Given the description of an element on the screen output the (x, y) to click on. 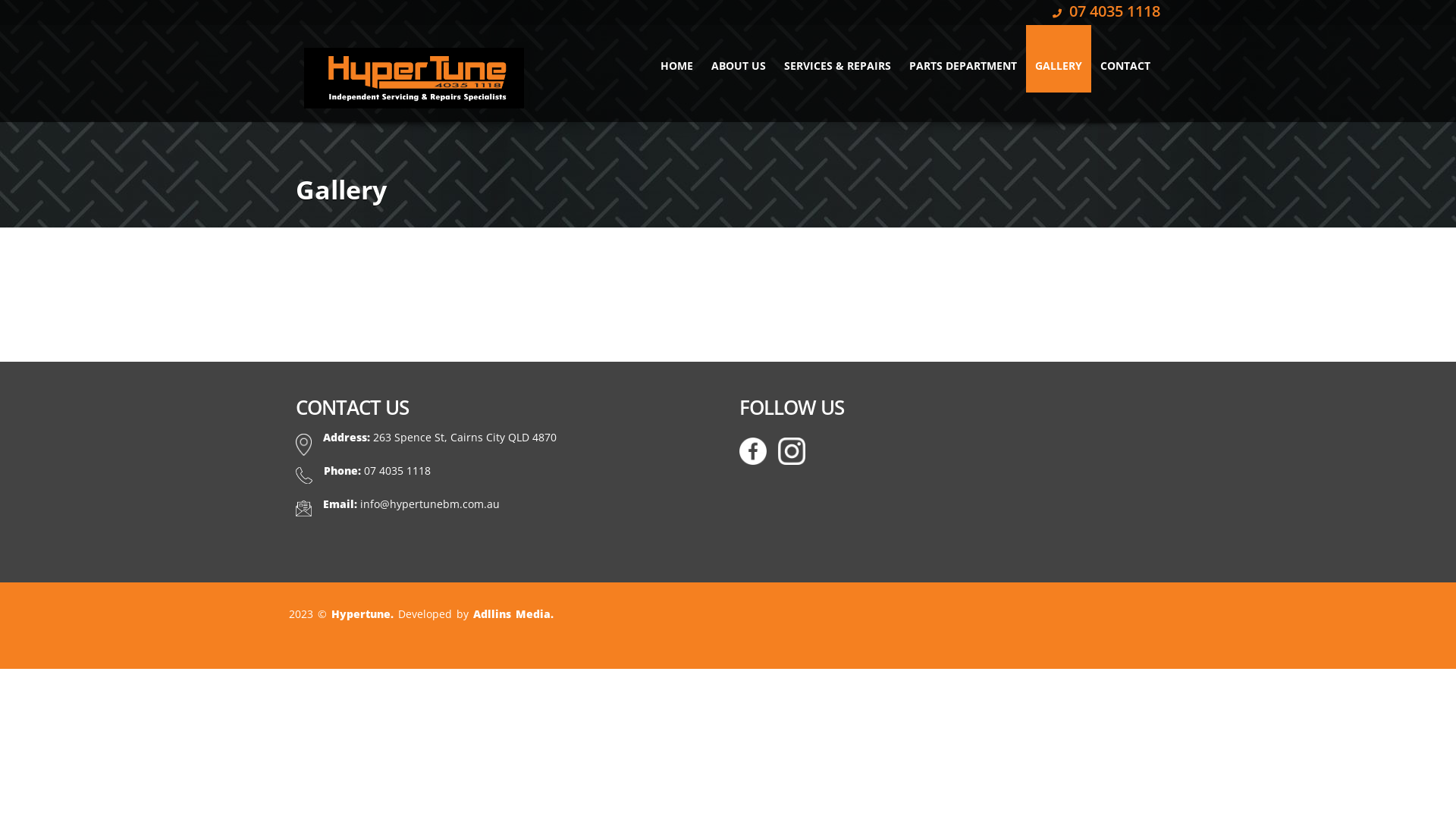
ABOUT US Element type: text (738, 58)
GALLERY Element type: text (1058, 58)
07 4035 1118 Element type: text (397, 470)
PARTS DEPARTMENT Element type: text (963, 58)
HOME Element type: text (676, 58)
CONTACT Element type: text (1125, 58)
info@hypertunebm.com.au Element type: text (429, 503)
Adllins Media. Element type: text (513, 613)
07 4035 1118 Element type: text (1106, 10)
SERVICES & REPAIRS Element type: text (837, 58)
263 Spence St, Cairns City QLD 4870 Element type: text (464, 436)
